Given the description of an element on the screen output the (x, y) to click on. 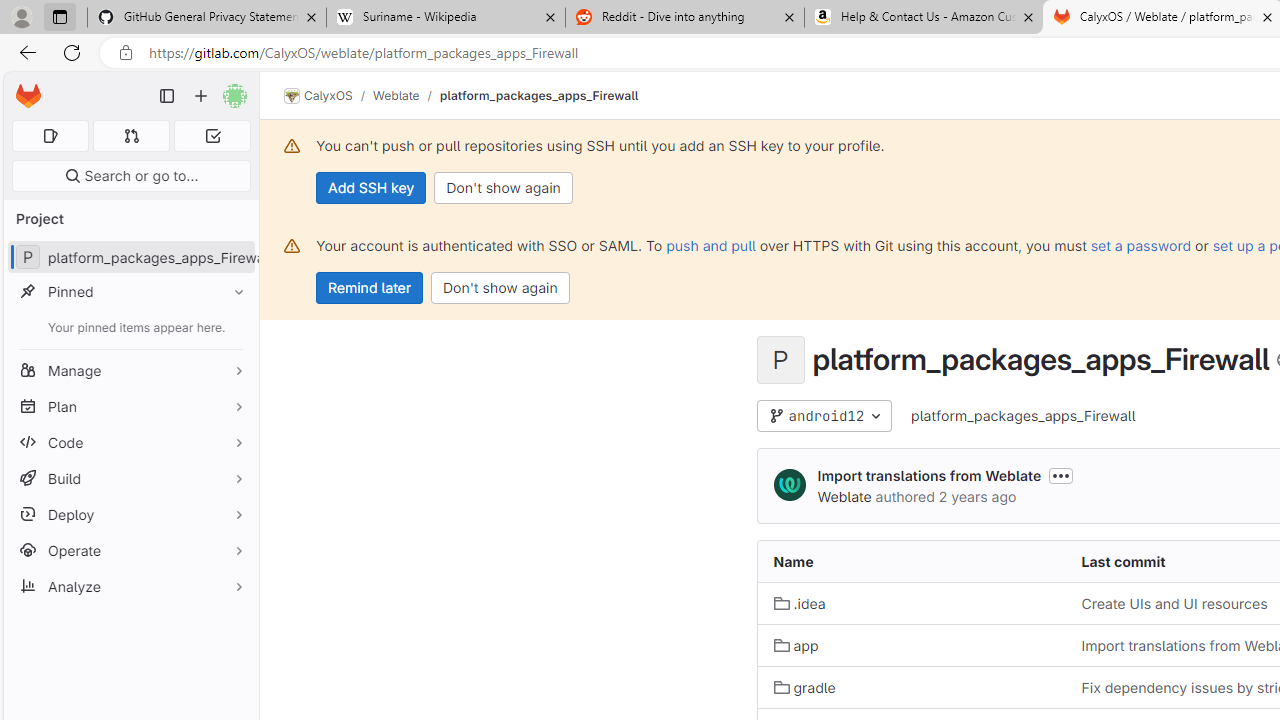
Weblate/ (406, 95)
Merge requests 0 (131, 136)
Primary navigation sidebar (167, 96)
Assigned issues 0 (50, 136)
Hosted Weblate's avatar (789, 484)
Plan (130, 406)
Import translations from Weblate (928, 475)
Code (130, 442)
Build (130, 478)
Plan (130, 406)
CalyxOS (318, 96)
Suriname - Wikipedia (445, 17)
